Given the description of an element on the screen output the (x, y) to click on. 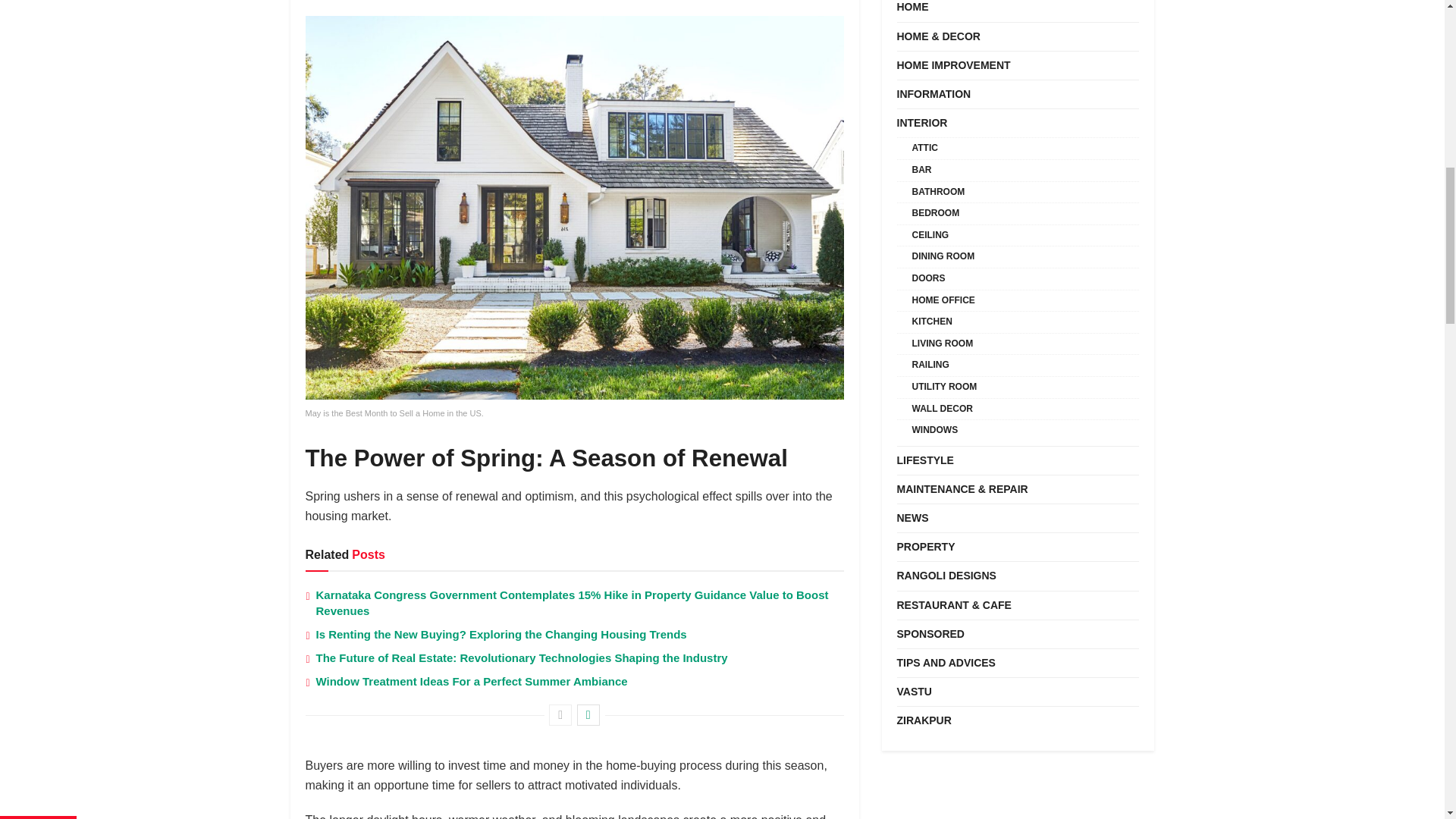
Previous (560, 714)
Next (587, 714)
